Given the description of an element on the screen output the (x, y) to click on. 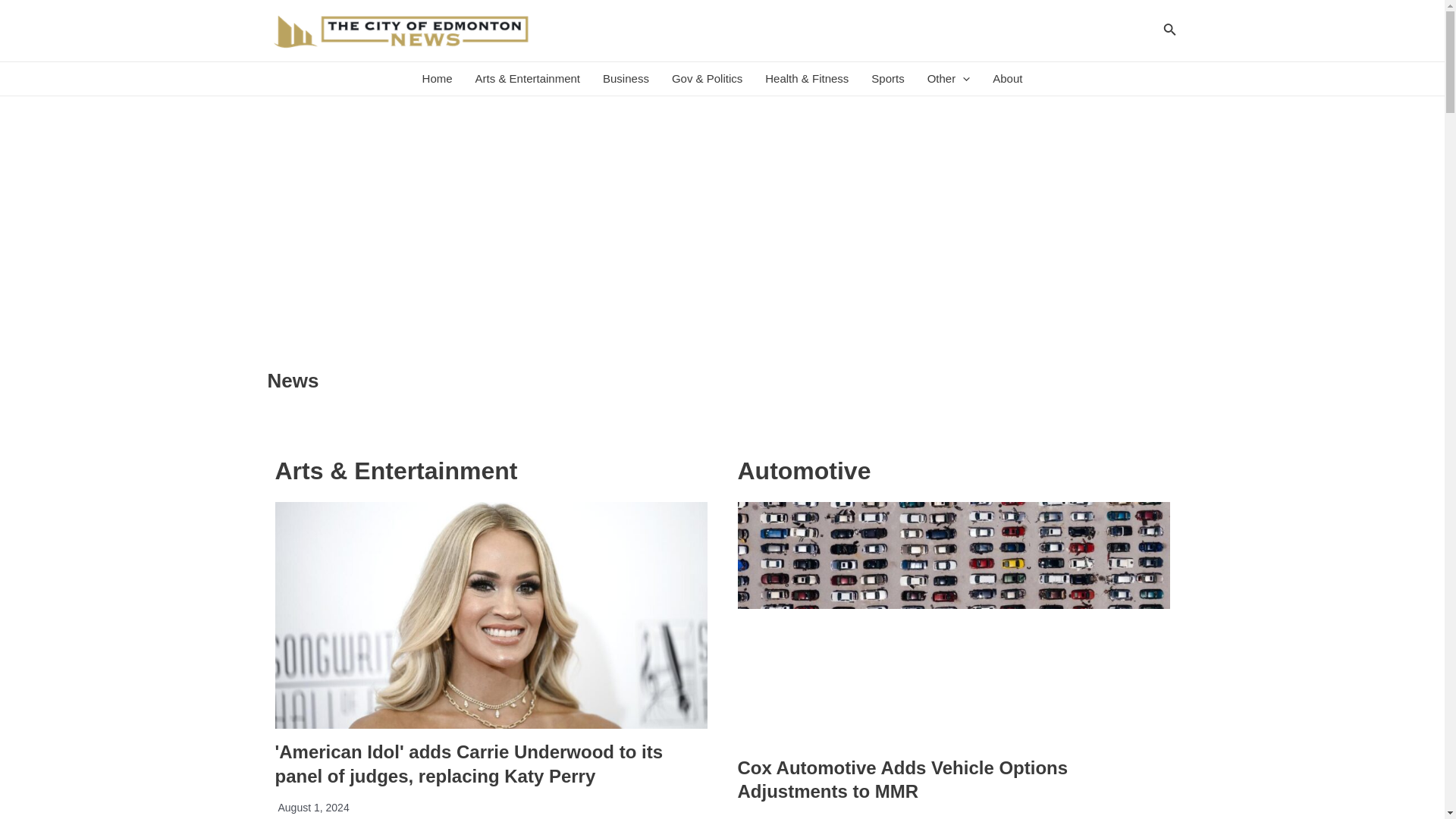
Sports (887, 78)
Other (948, 78)
Home (437, 78)
About (1007, 78)
Business (626, 78)
